Given the description of an element on the screen output the (x, y) to click on. 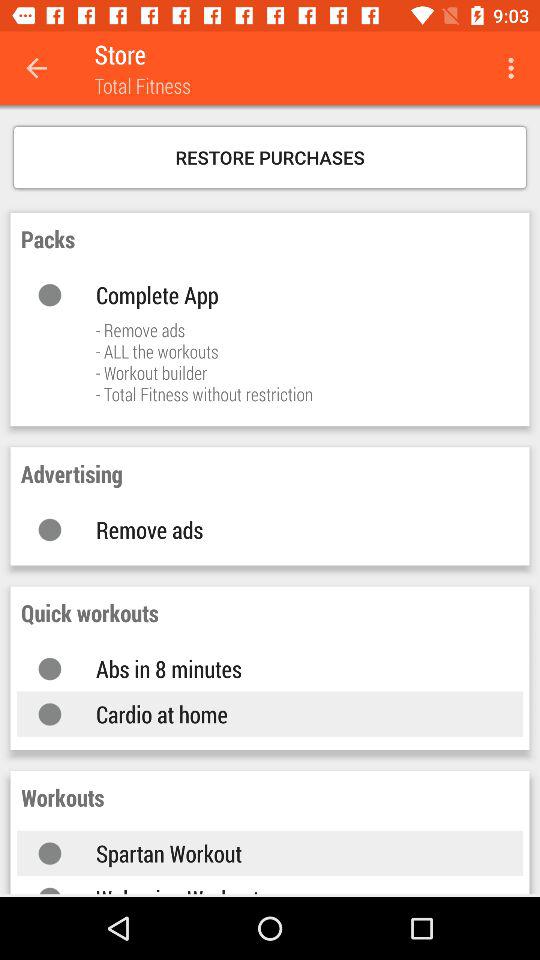
jump to cardio at home (289, 714)
